Given the description of an element on the screen output the (x, y) to click on. 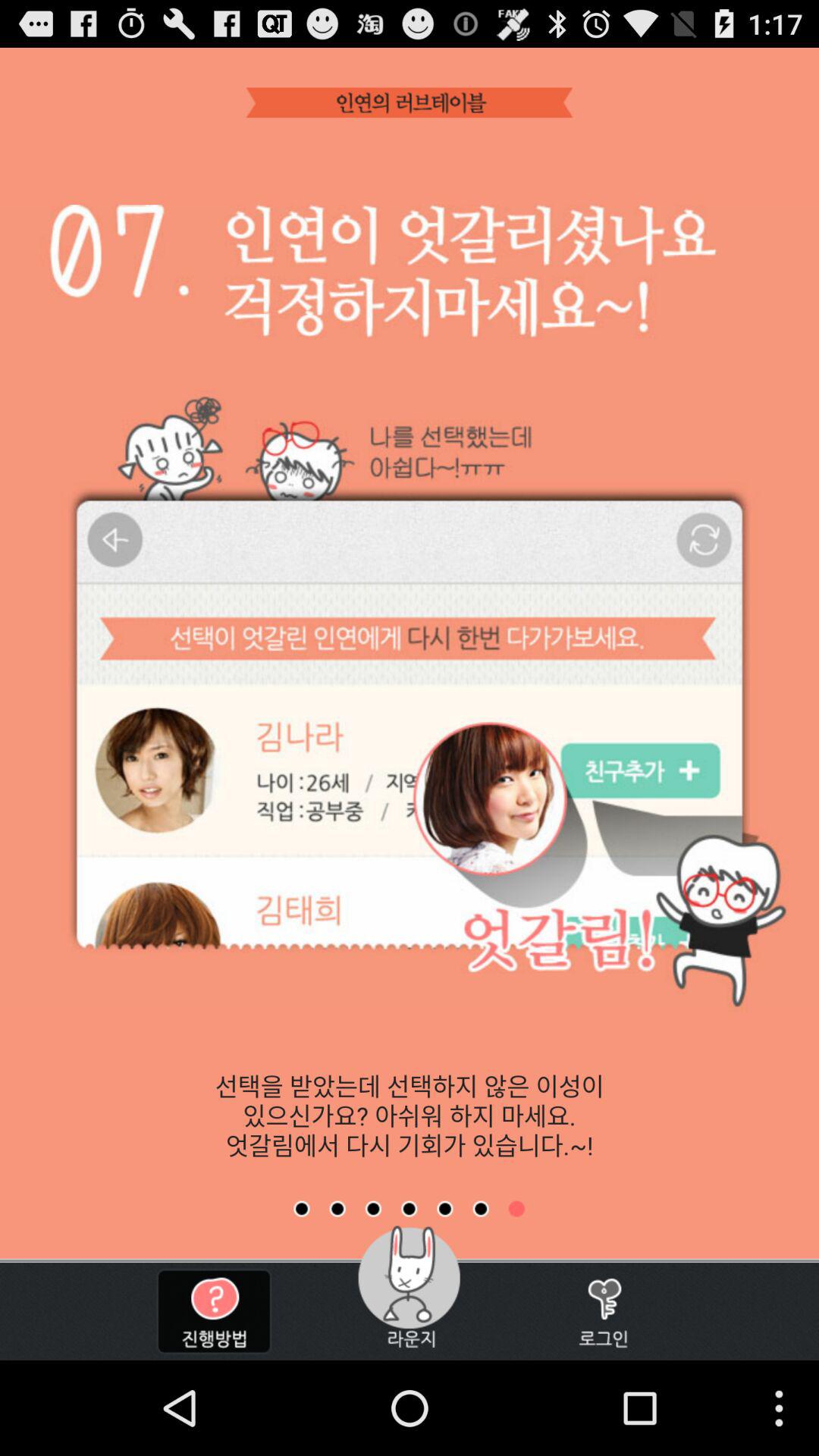
switch to tab (409, 1208)
